Given the description of an element on the screen output the (x, y) to click on. 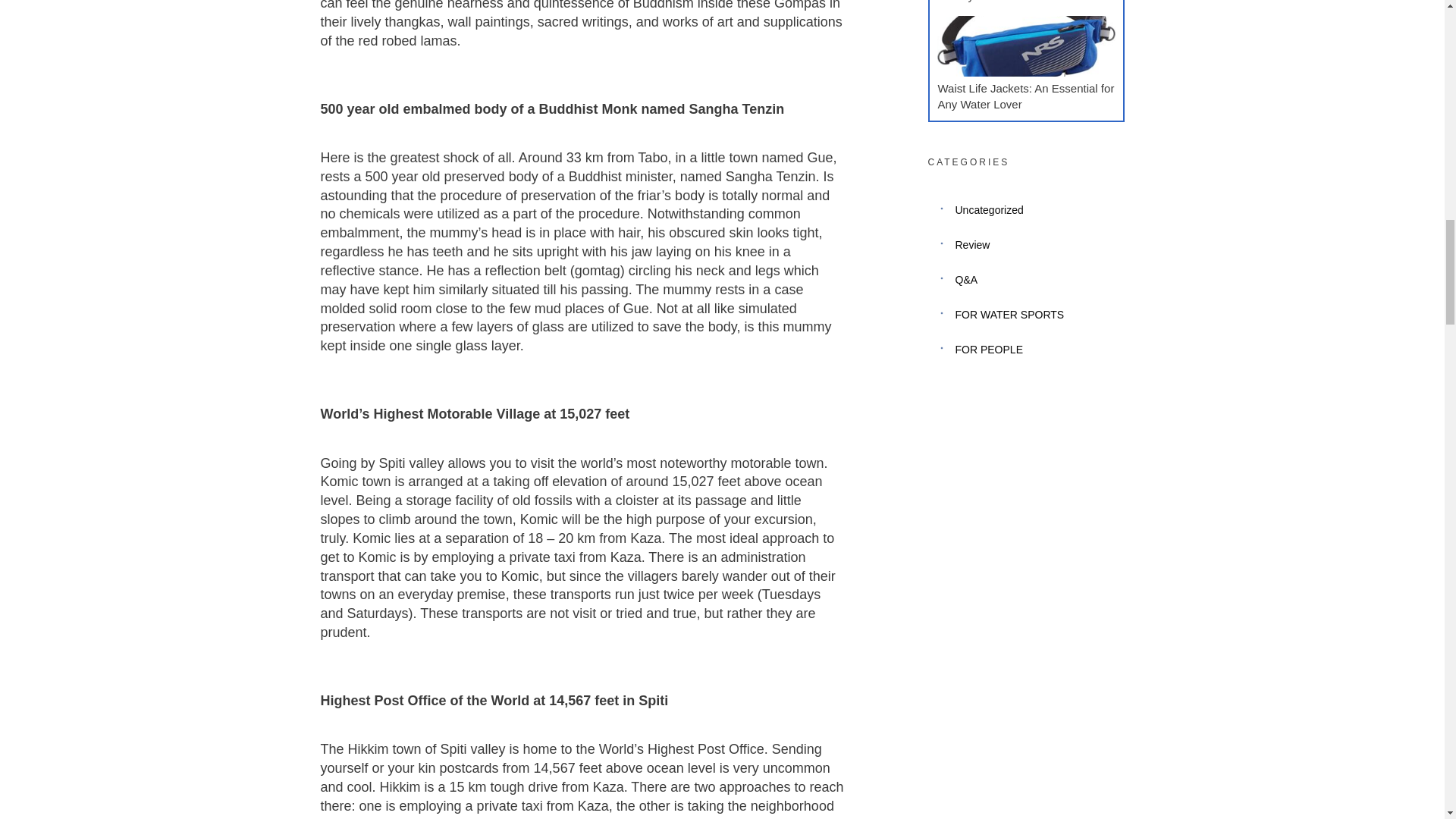
Review (972, 244)
FOR WATER SPORTS (1009, 314)
The Best Life Jackets for Every Activity (1015, 1)
The Best Life Jackets for Every Activity (1015, 1)
Waist Life Jackets: An Essential for Any Water Lover (1025, 95)
Waist Life Jackets: An Essential for Any Water Lover (1025, 95)
FOR PEOPLE (989, 349)
Uncategorized (989, 209)
